Given the description of an element on the screen output the (x, y) to click on. 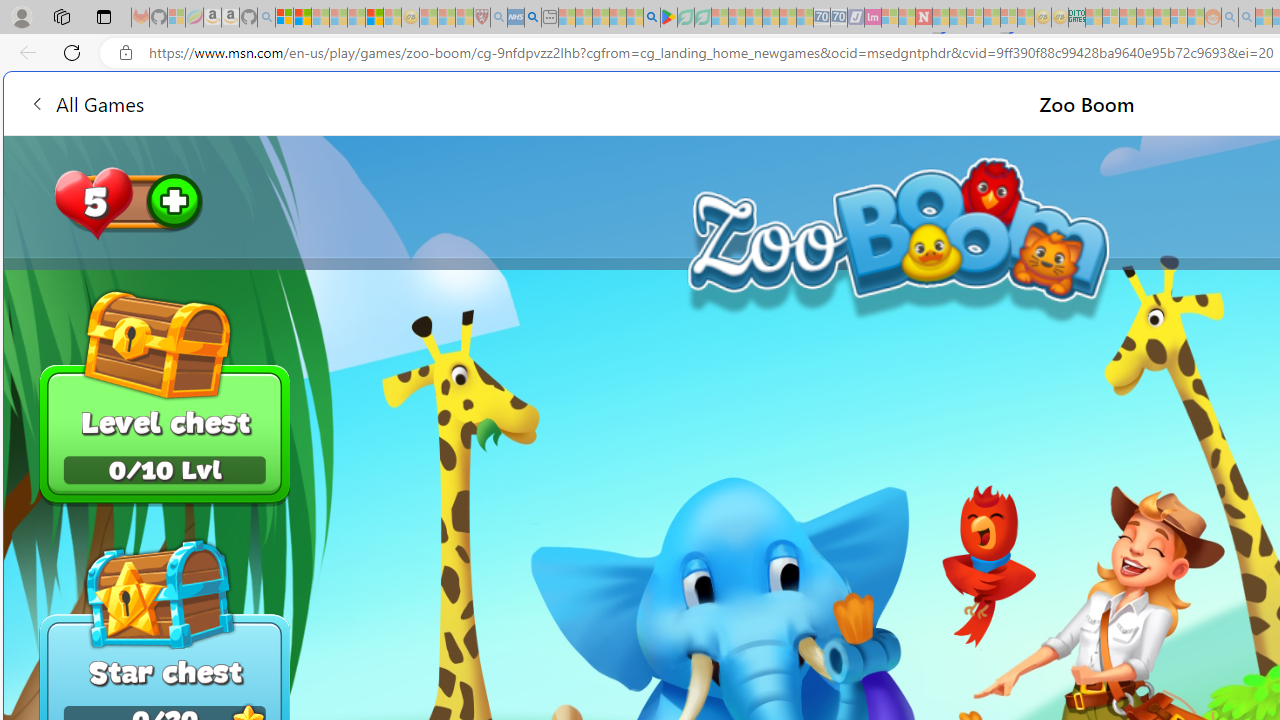
Expert Portfolios - Sleeping (1144, 17)
utah sues federal government - Search (532, 17)
Jobs - lastminute.com Investor Portal - Sleeping (872, 17)
Terms of Use Agreement - Sleeping (685, 17)
New Report Confirms 2023 Was Record Hot | Watch - Sleeping (356, 17)
Kinda Frugal - MSN - Sleeping (1161, 17)
